Given the description of an element on the screen output the (x, y) to click on. 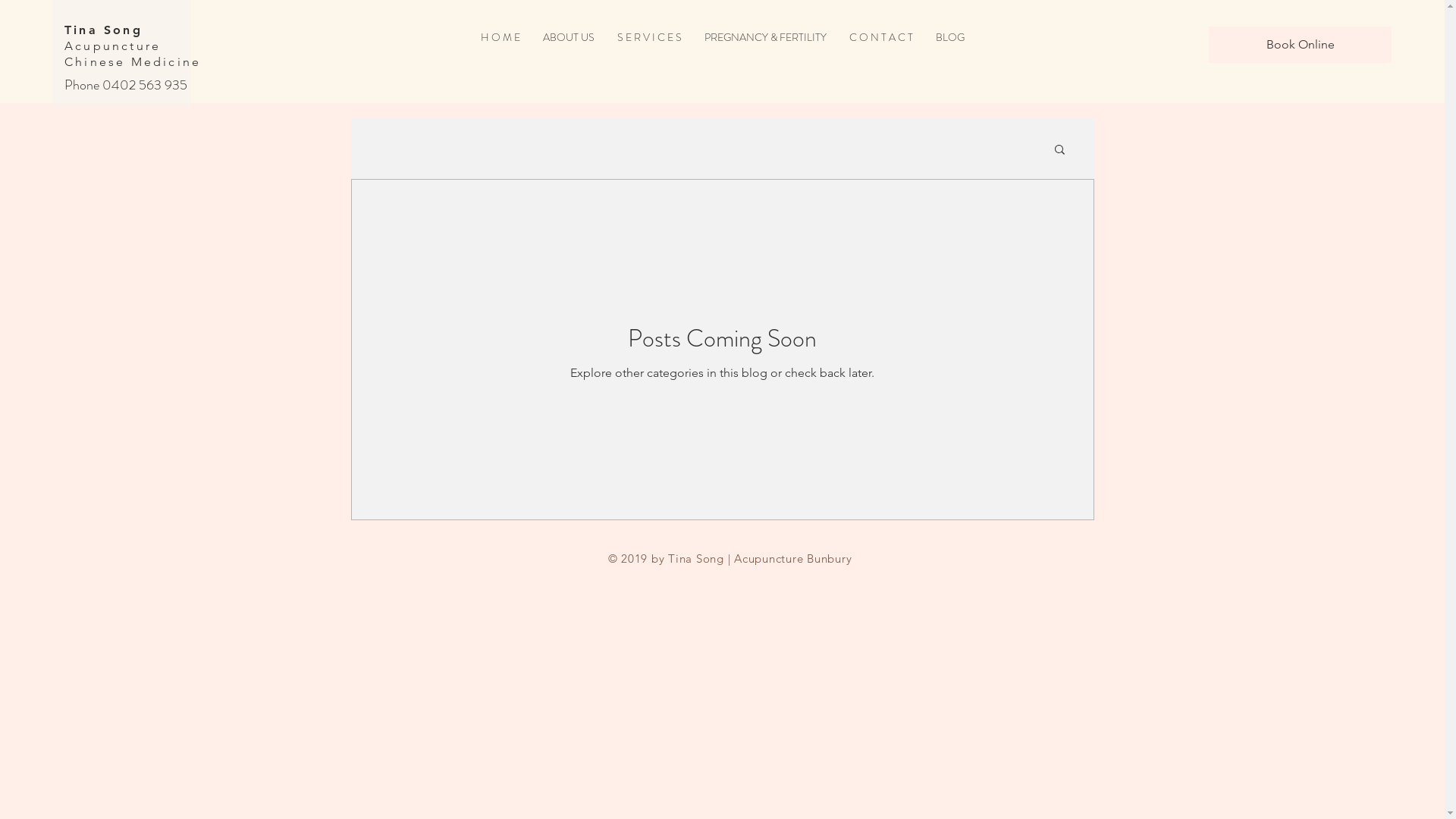
S E R V I C E S Element type: text (648, 37)
ABOUT US Element type: text (567, 37)
Book Online Element type: text (1299, 44)
C O N T A C T Element type: text (880, 37)
Phone 0402 563 935 Element type: text (125, 84)
Acupuncture Element type: text (112, 45)
Tina Song Element type: text (103, 29)
PREGNANCY & FERTILITY Element type: text (765, 37)
BLOG Element type: text (949, 37)
H O M E Element type: text (499, 37)
